Given the description of an element on the screen output the (x, y) to click on. 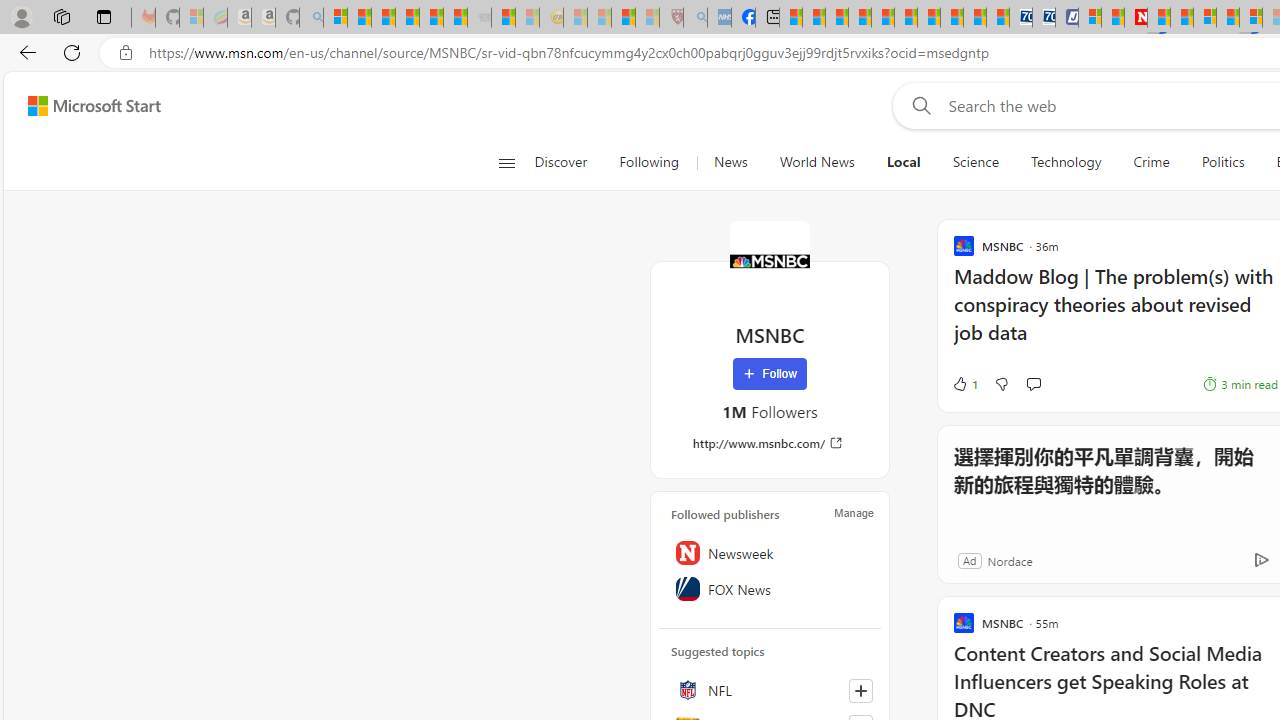
Crime (1150, 162)
Newsweek (770, 552)
12 Popular Science Lies that Must be Corrected - Sleeping (647, 17)
Stocks - MSN (455, 17)
Politics (1222, 162)
World News (816, 162)
Manage (854, 512)
Trusted Community Engagement and Contributions | Guidelines (1158, 17)
Class: button-glyph (505, 162)
Science (975, 162)
